Given the description of an element on the screen output the (x, y) to click on. 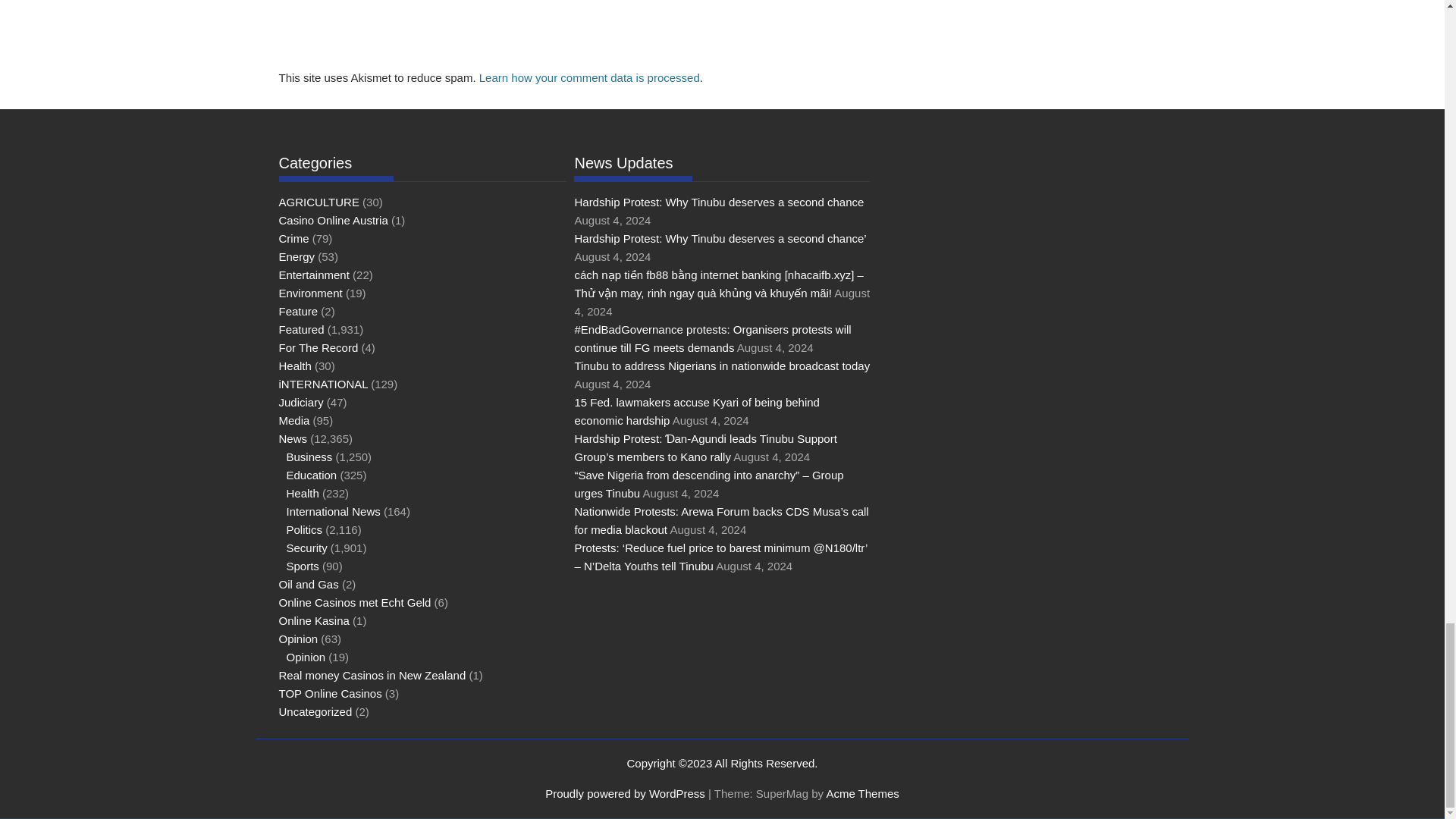
Comment Form (580, 31)
